Given the description of an element on the screen output the (x, y) to click on. 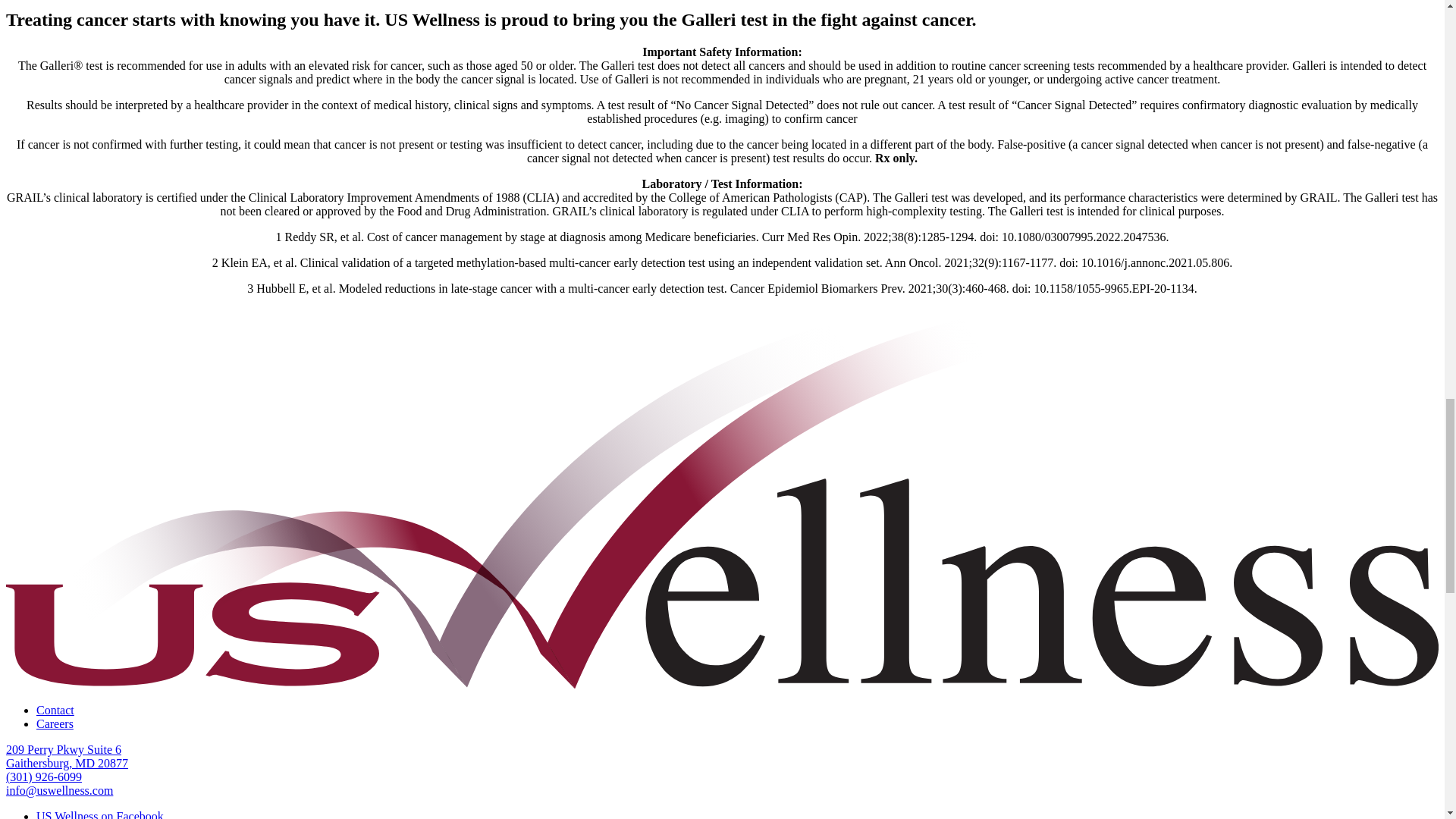
Contact (55, 709)
Careers (66, 755)
US Wellness on Facebook (55, 723)
